Given the description of an element on the screen output the (x, y) to click on. 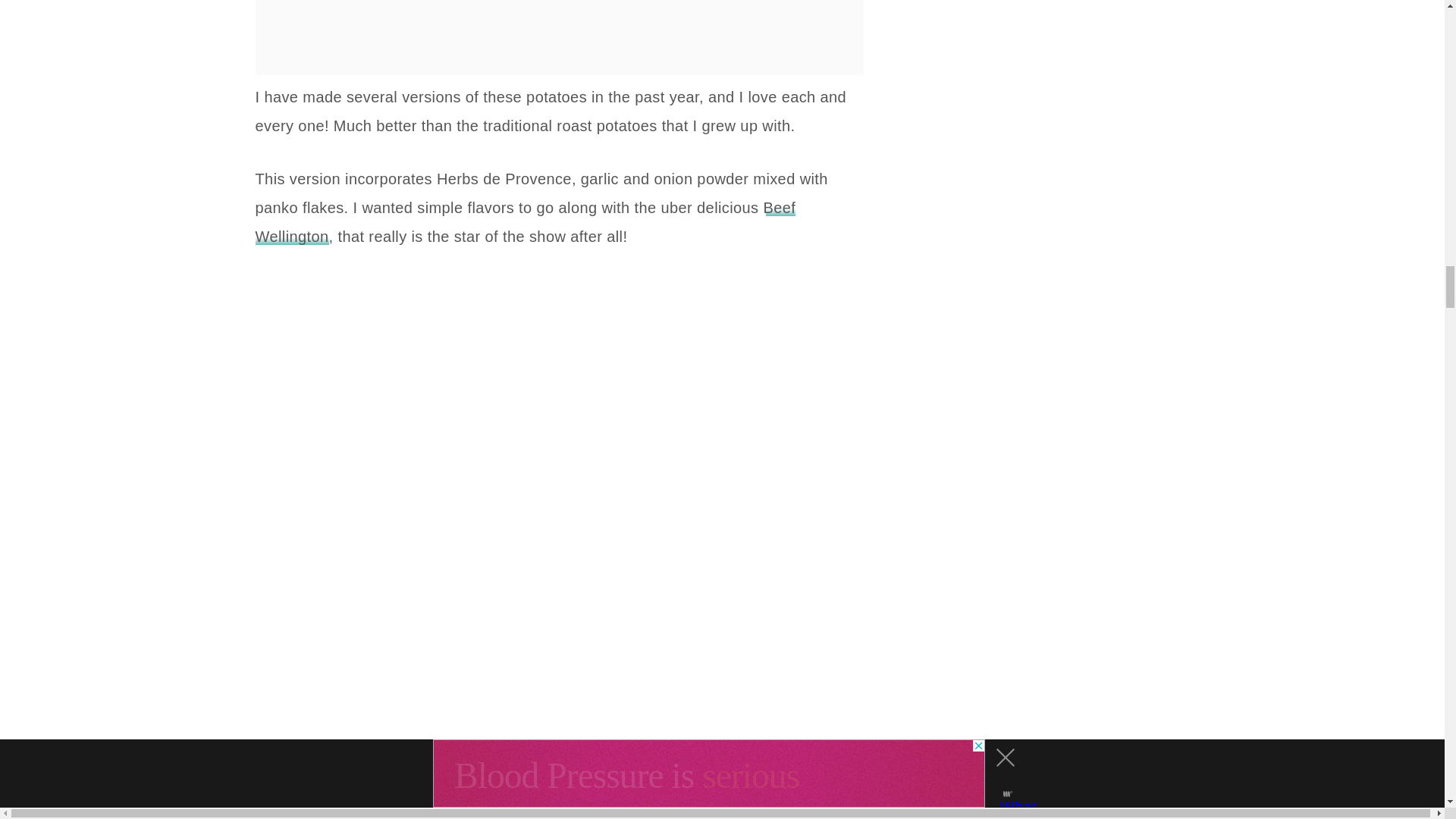
Beef Wellington (524, 221)
